Given the description of an element on the screen output the (x, y) to click on. 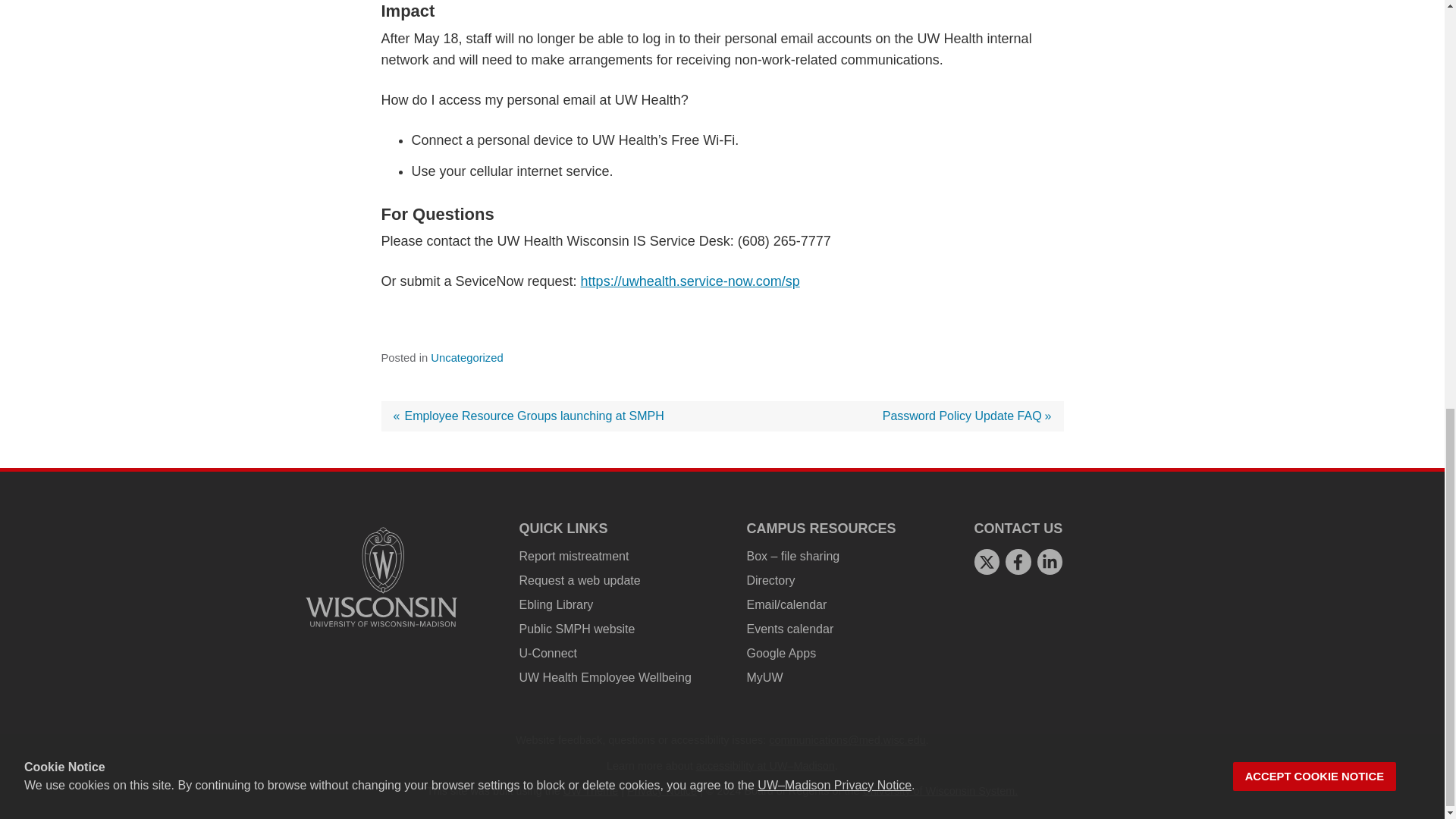
facebook (1018, 562)
University logo that links to main university website (380, 576)
linkedin (1049, 562)
x twitter (986, 562)
